Given the description of an element on the screen output the (x, y) to click on. 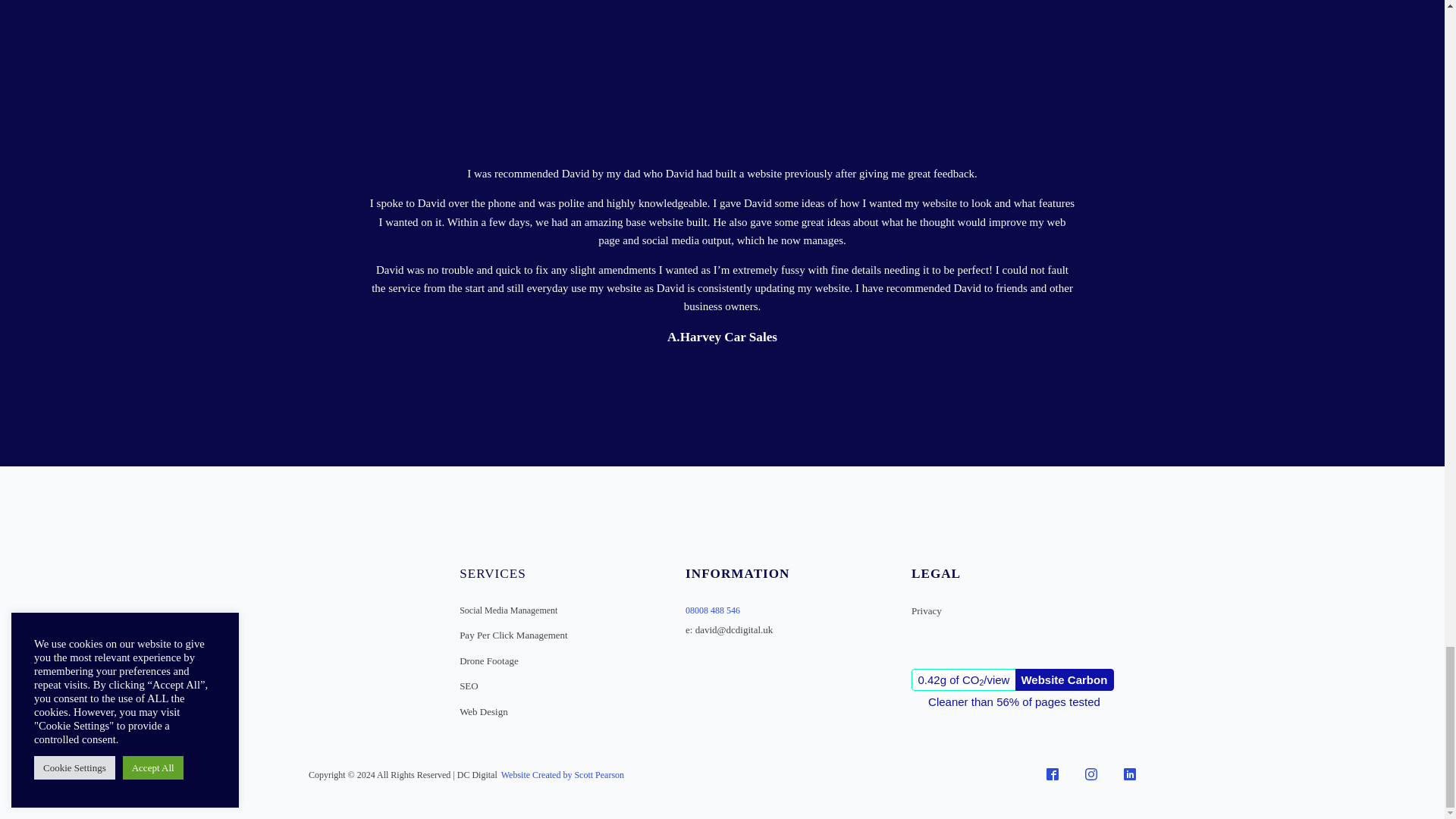
Social Media Management (508, 610)
Drone Footage (489, 661)
Pay Per Click Management (513, 635)
